Given the description of an element on the screen output the (x, y) to click on. 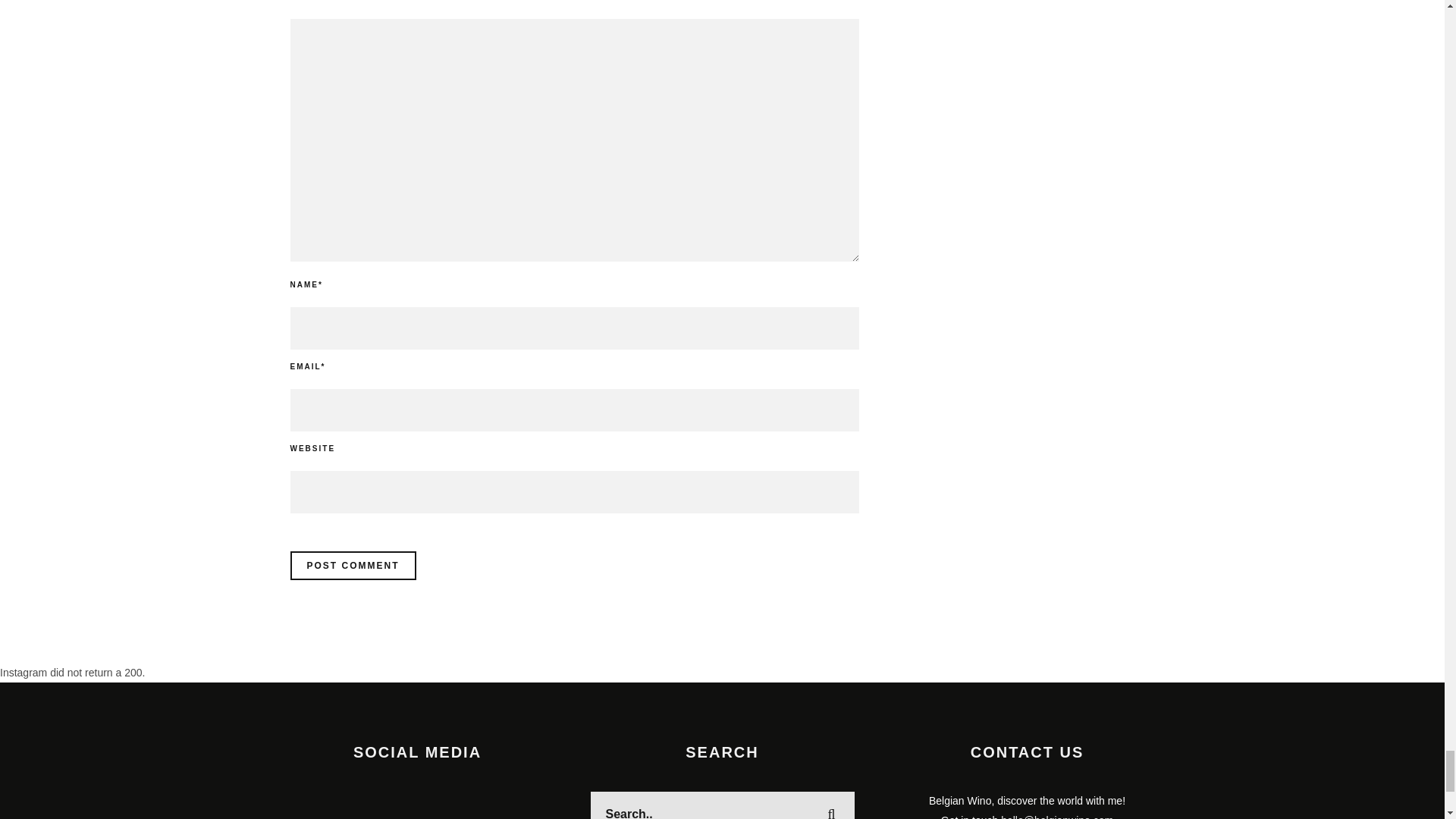
Post Comment (351, 565)
